Given the description of an element on the screen output the (x, y) to click on. 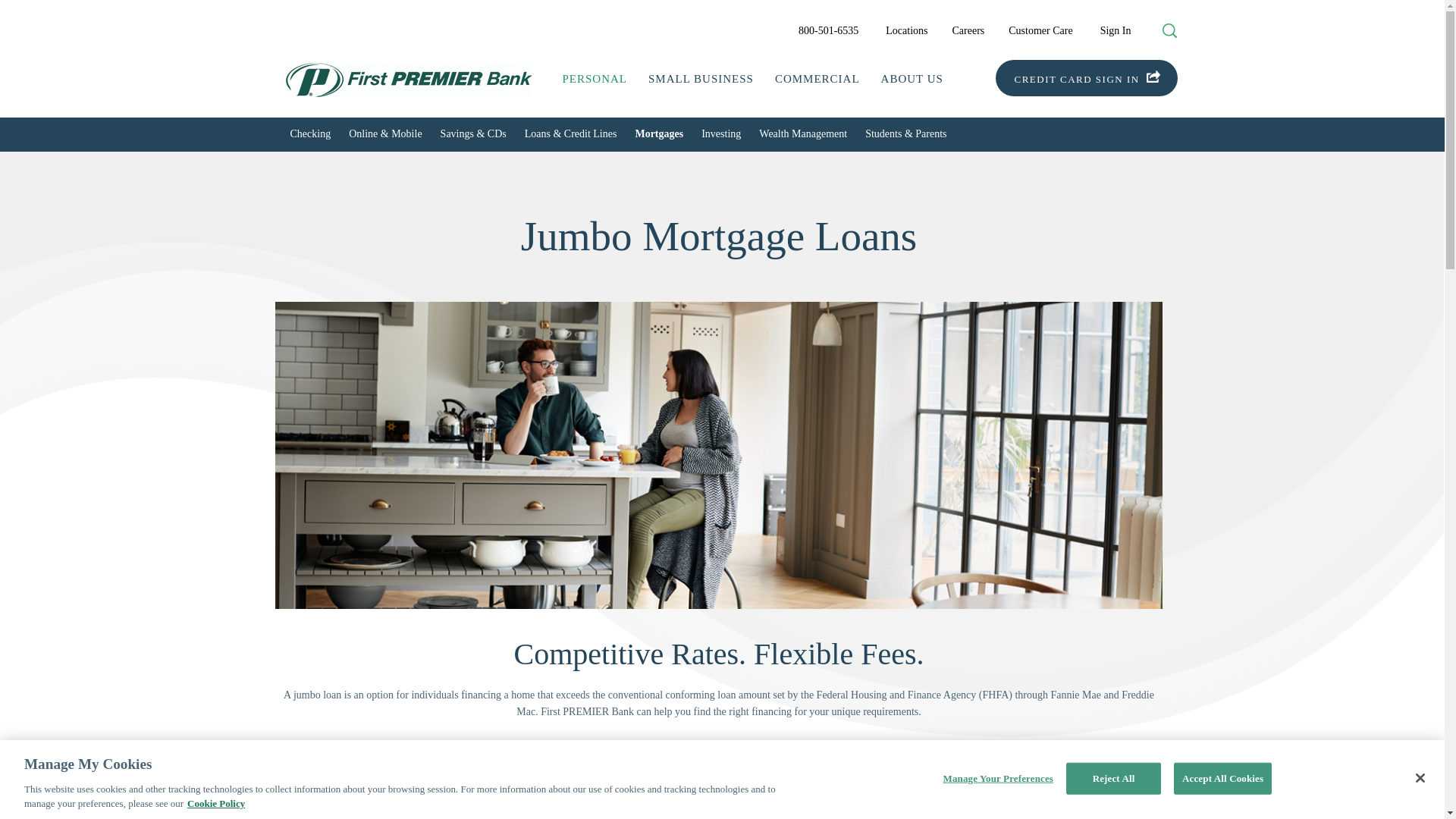
First PREMIER Bank - Home (408, 98)
skip to content (24, 11)
Jumbo Mortgages (981, 798)
Skip to Content (24, 11)
